Given the description of an element on the screen output the (x, y) to click on. 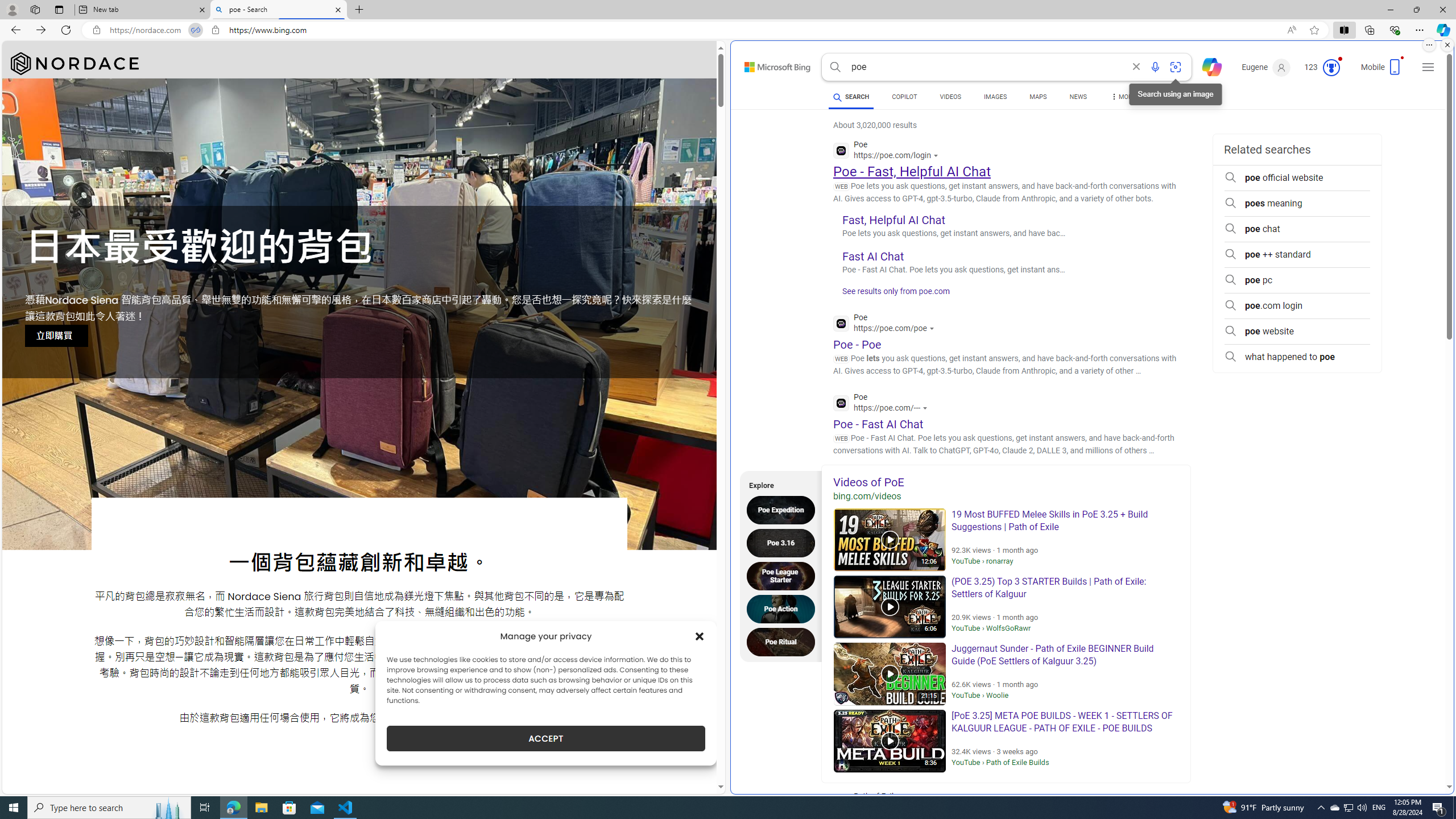
More options. (1428, 45)
TOOLS (1171, 98)
IMAGES (995, 96)
Chat (1207, 65)
Clear text (1136, 66)
Mobile (1382, 70)
Poe - Fast AI Chat (877, 423)
Path of Exile (912, 803)
